Given the description of an element on the screen output the (x, y) to click on. 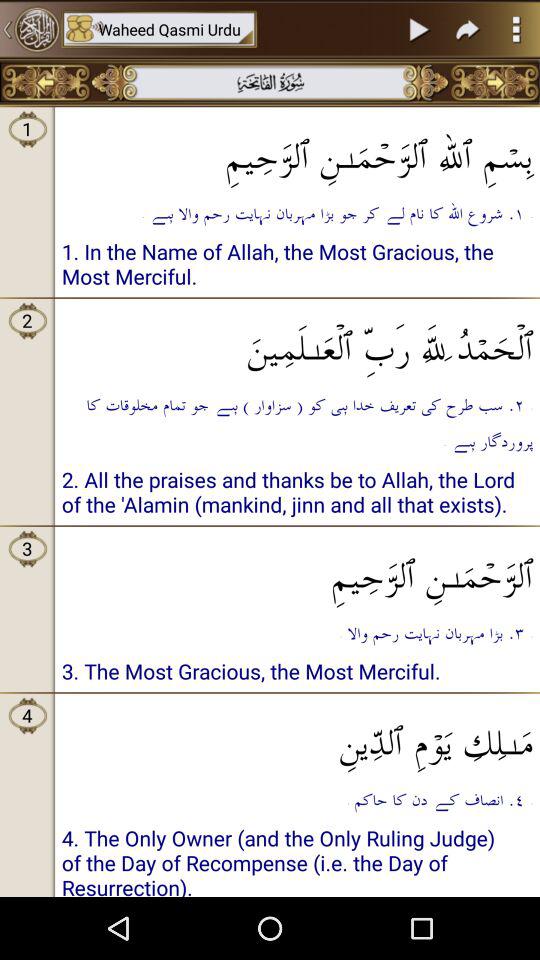
select the app to the right of 2 app (297, 341)
